Given the description of an element on the screen output the (x, y) to click on. 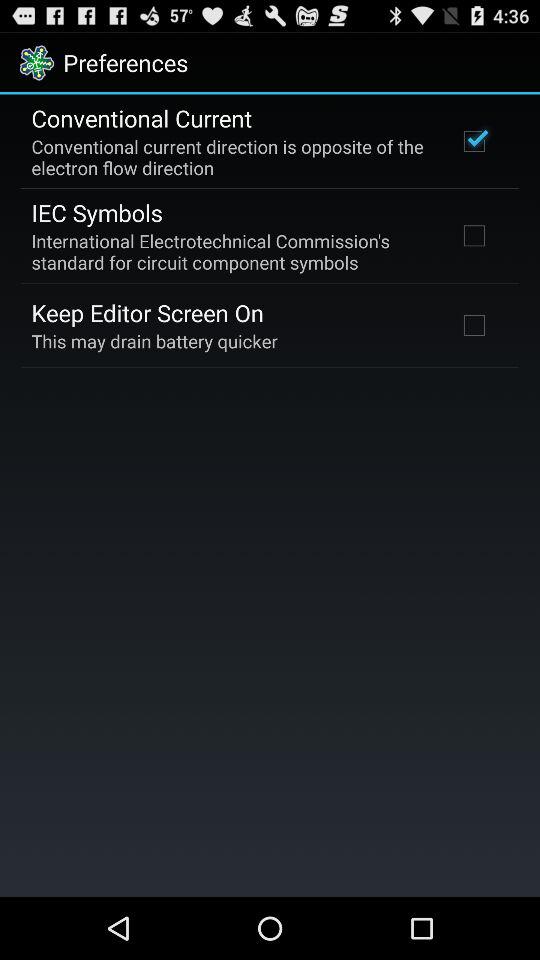
scroll to iec symbols app (96, 212)
